Given the description of an element on the screen output the (x, y) to click on. 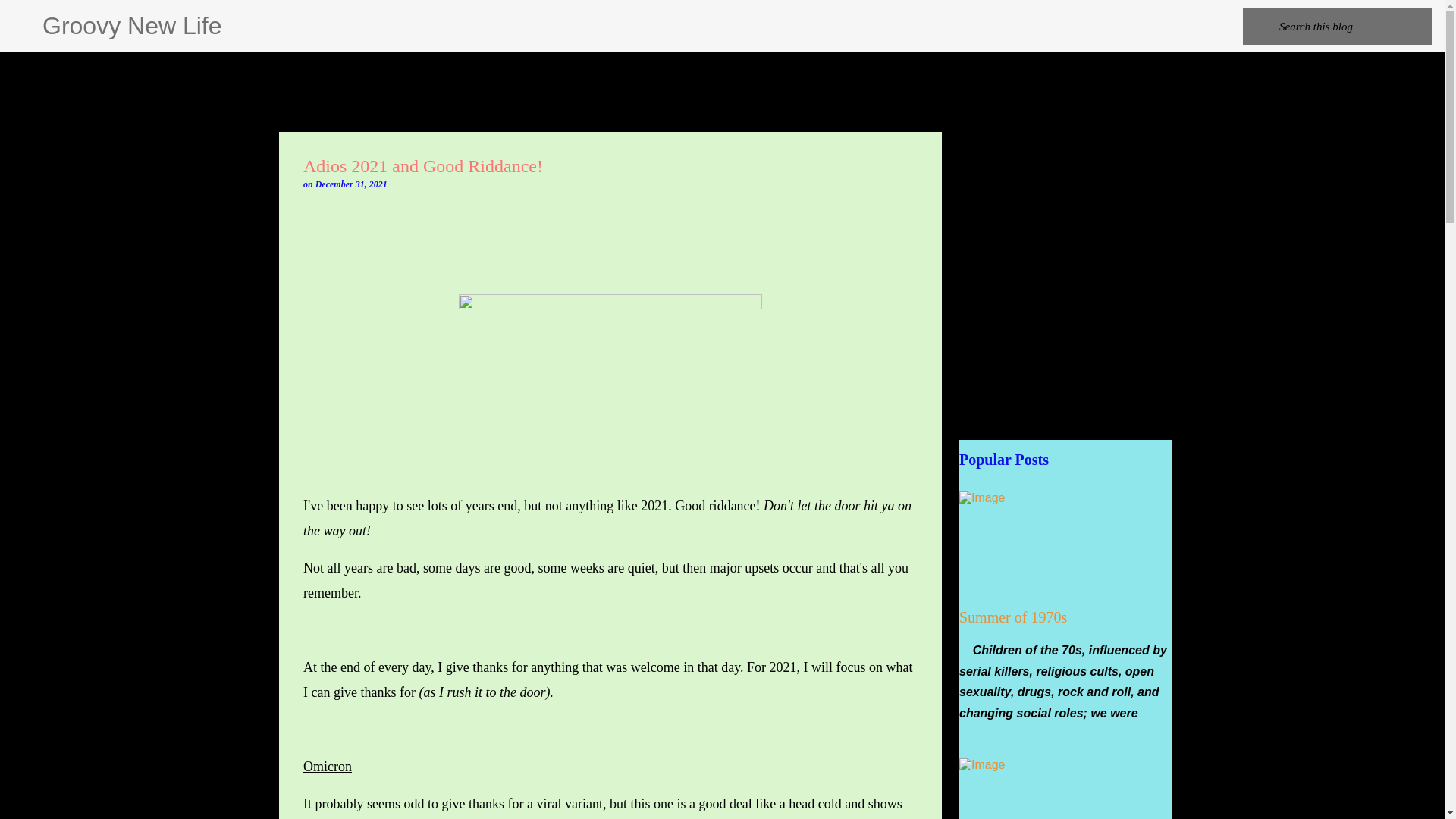
Summer of 1970s (1013, 617)
permanent link (351, 184)
December 31, 2021 (351, 184)
Groovy New Life (132, 25)
